Given the description of an element on the screen output the (x, y) to click on. 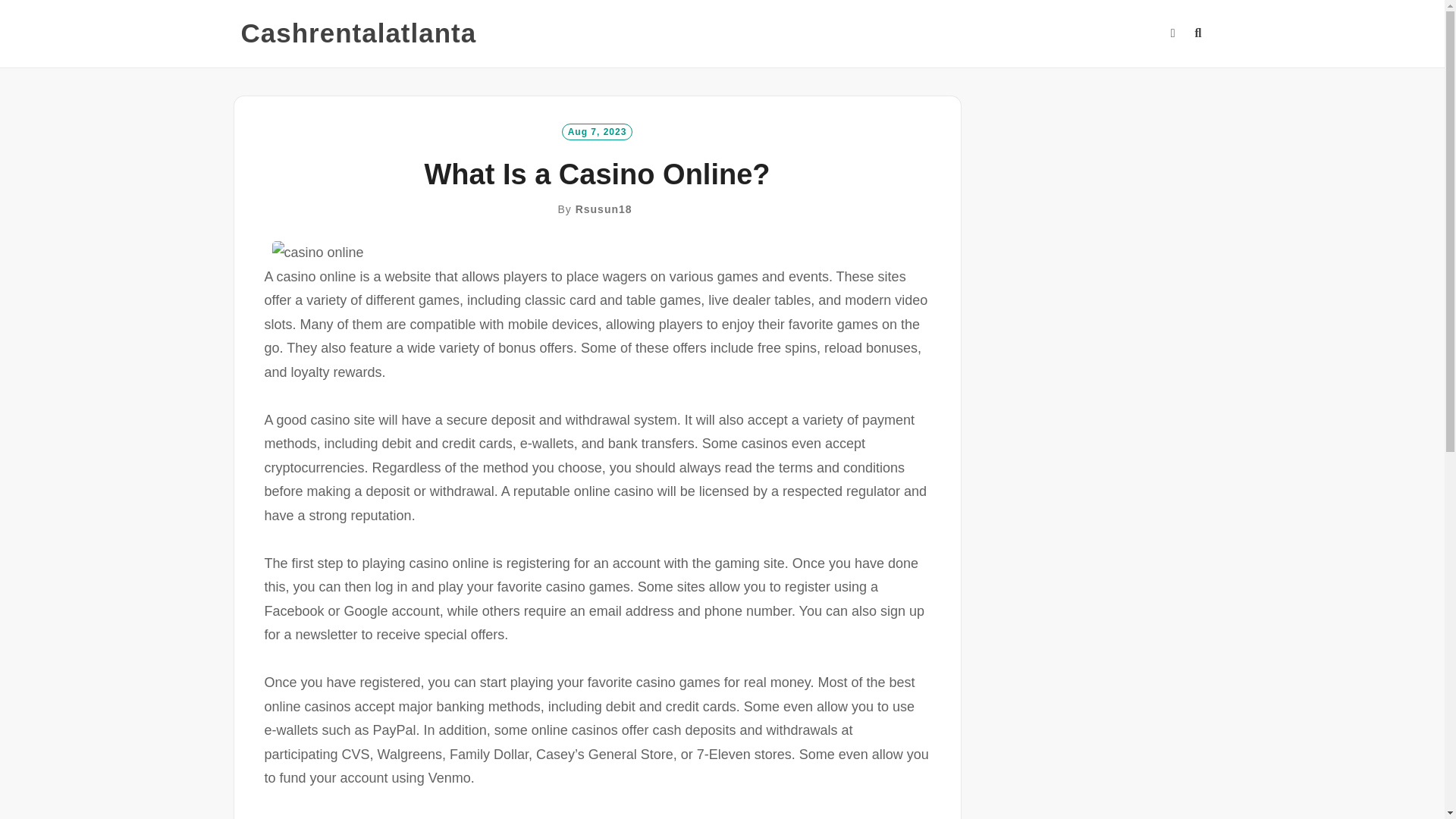
Rsusun18 (603, 209)
Cashrentalatlanta (359, 33)
Aug 7, 2023 (597, 130)
